Given the description of an element on the screen output the (x, y) to click on. 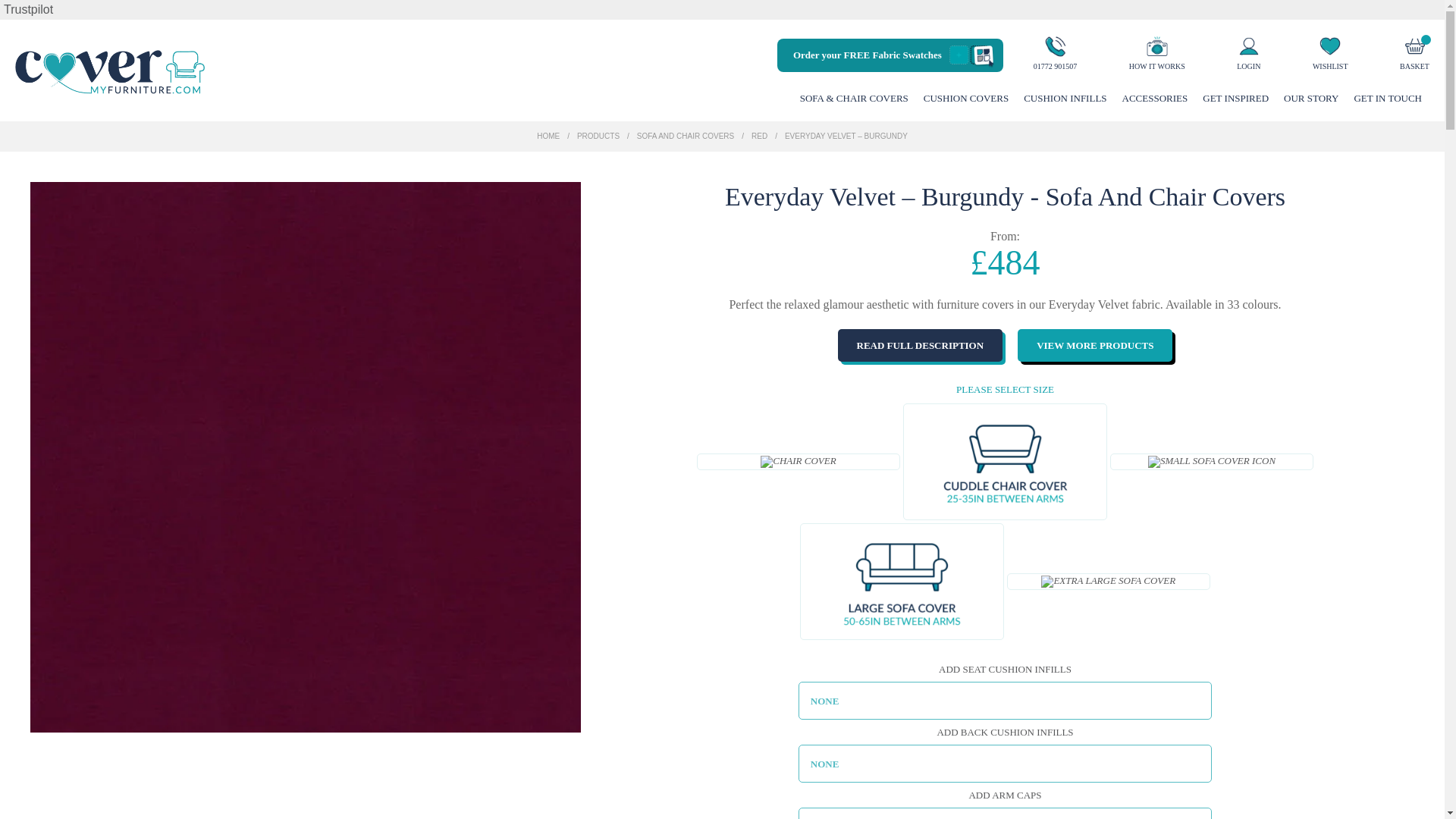
Small Sofa (1211, 461)
Large Sofa (901, 581)
Chair (798, 461)
Trustpilot (28, 9)
Cuddle Chair (1005, 461)
Extra Large Sofa (1108, 581)
